Given the description of an element on the screen output the (x, y) to click on. 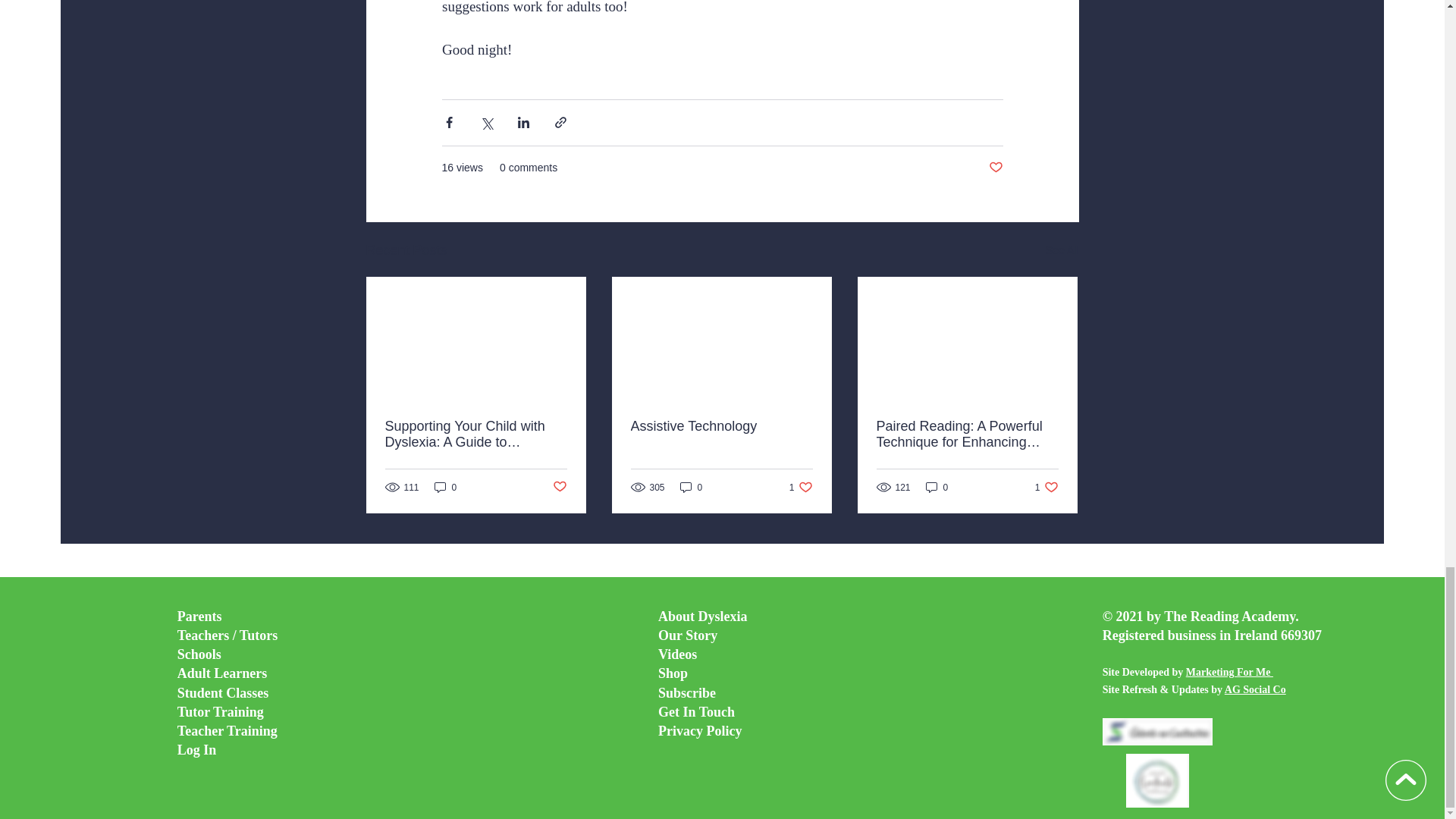
Post not marked as liked (558, 487)
See All (1061, 250)
0 (691, 486)
0 (937, 486)
Parents (1046, 486)
0 (199, 616)
Post not marked as liked (445, 486)
Assistive Technology (800, 486)
